Given the description of an element on the screen output the (x, y) to click on. 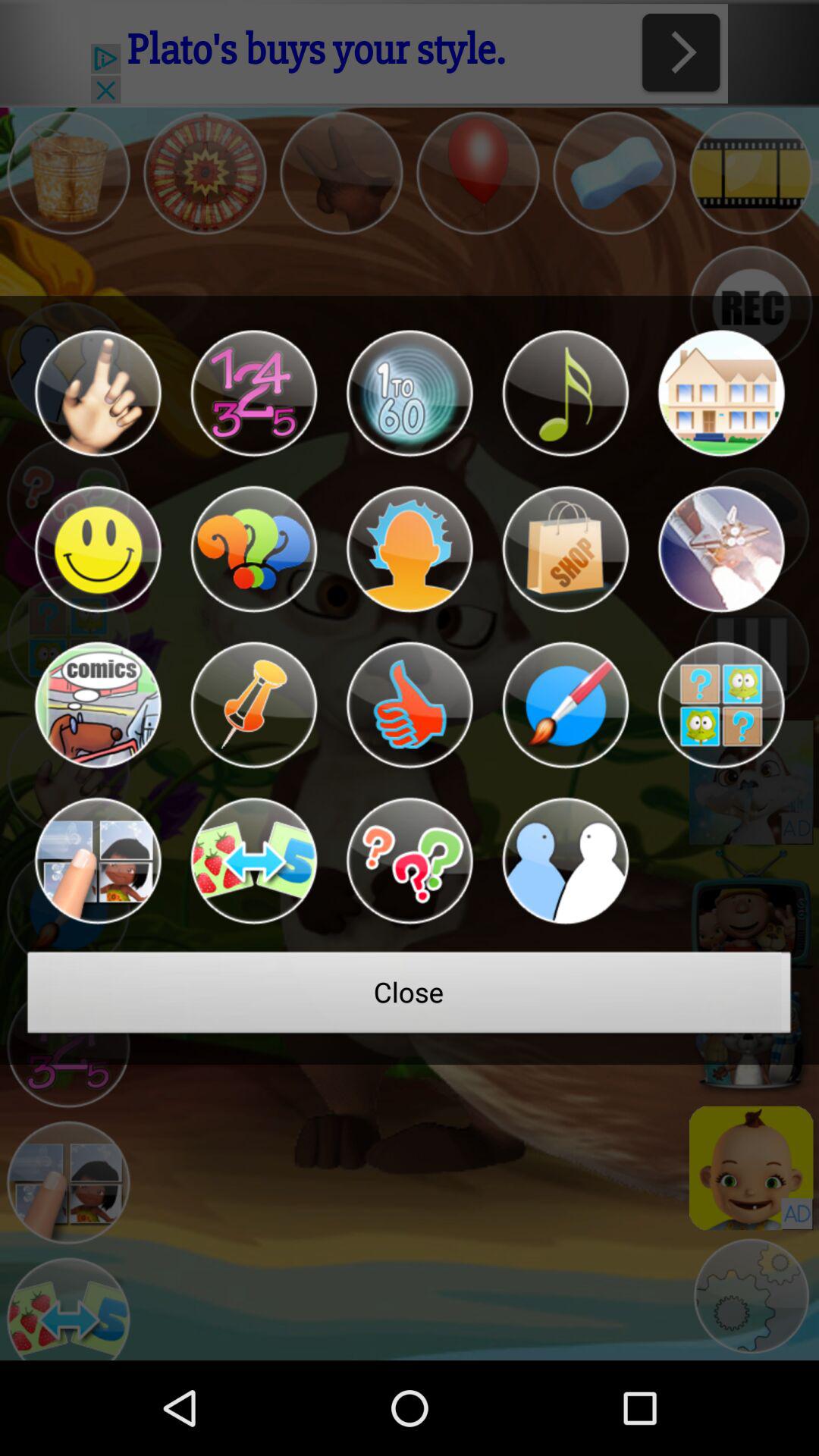
open app (253, 861)
